Given the description of an element on the screen output the (x, y) to click on. 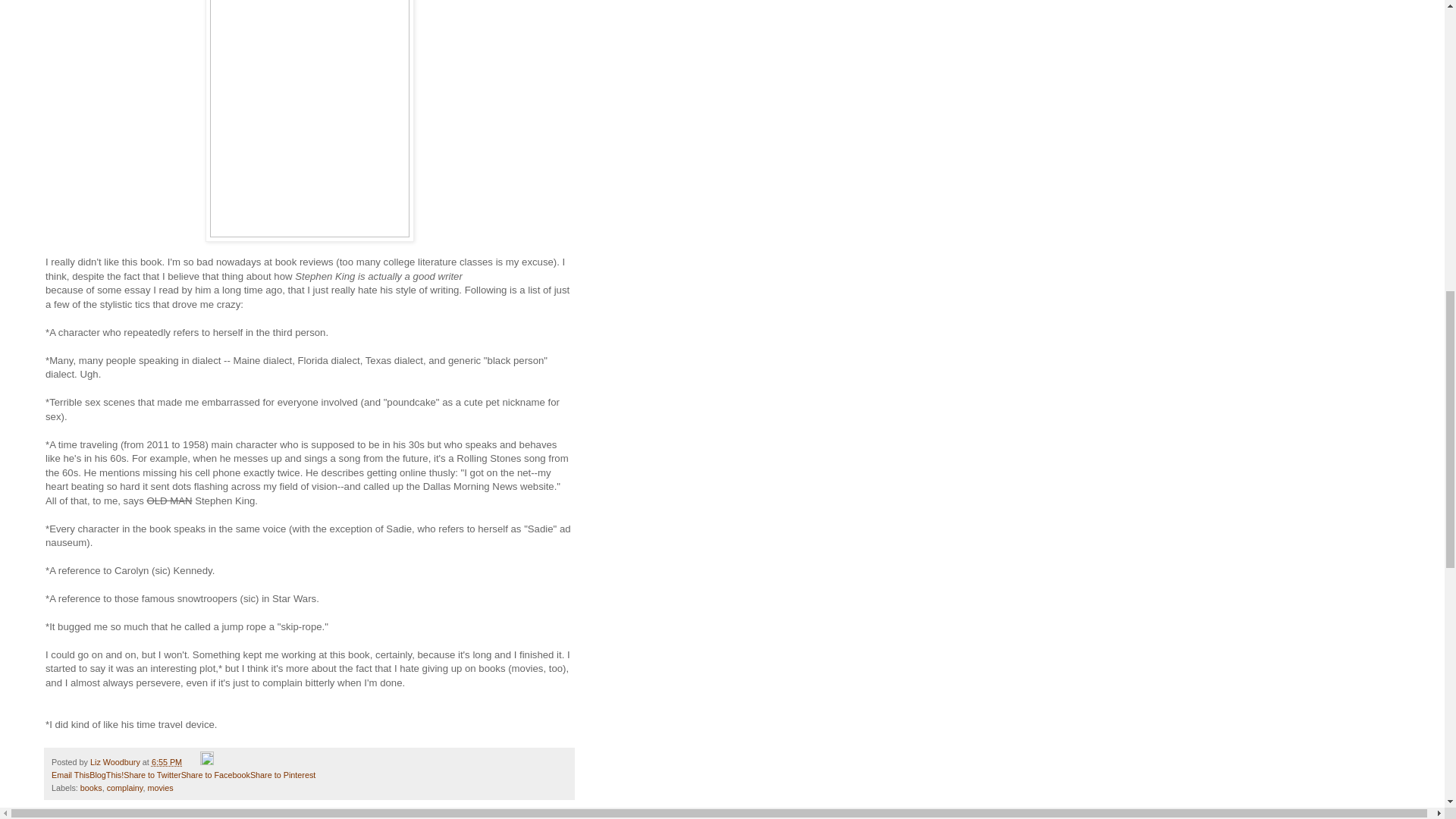
permanent link (166, 761)
Share to Pinterest (282, 774)
Share to Twitter (151, 774)
books (90, 787)
Email This (69, 774)
Share to Twitter (151, 774)
Liz Woodbury (116, 761)
Edit Post (207, 761)
Email Post (192, 761)
Share to Facebook (215, 774)
6:55 PM (166, 761)
BlogThis! (105, 774)
movies (160, 787)
Share to Pinterest (282, 774)
author profile (116, 761)
